Given the description of an element on the screen output the (x, y) to click on. 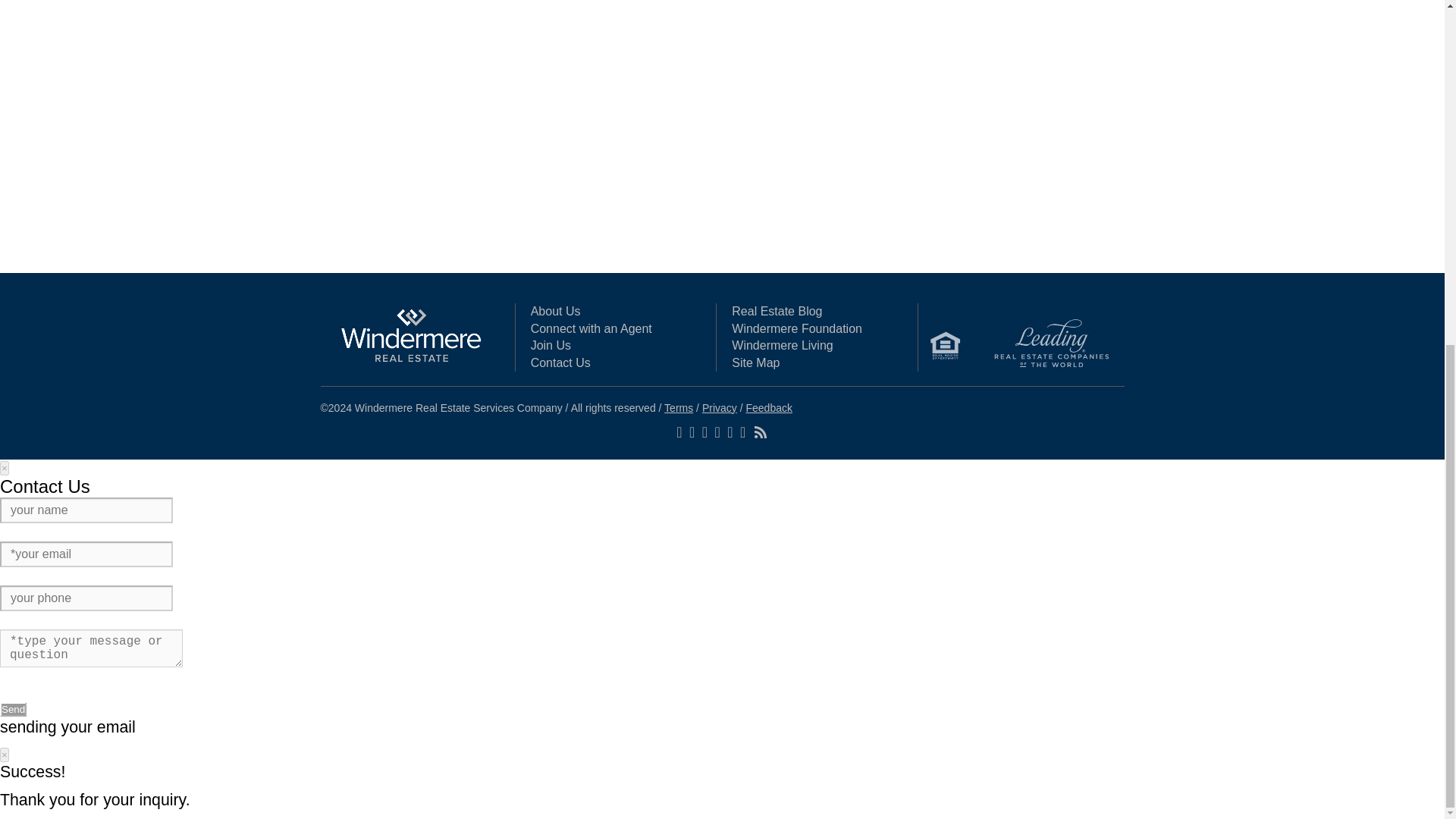
About Us (555, 310)
Connect with an Agent (591, 327)
Windermere Foundation (796, 327)
Real Estate Blog (777, 310)
Site Map (755, 362)
Windermere Living (782, 345)
w-footer-Leading-RE (1051, 344)
Contact Us (561, 362)
Terms (678, 408)
Feedback (768, 408)
Join Us (550, 345)
Send (13, 708)
Privacy (718, 408)
